Given the description of an element on the screen output the (x, y) to click on. 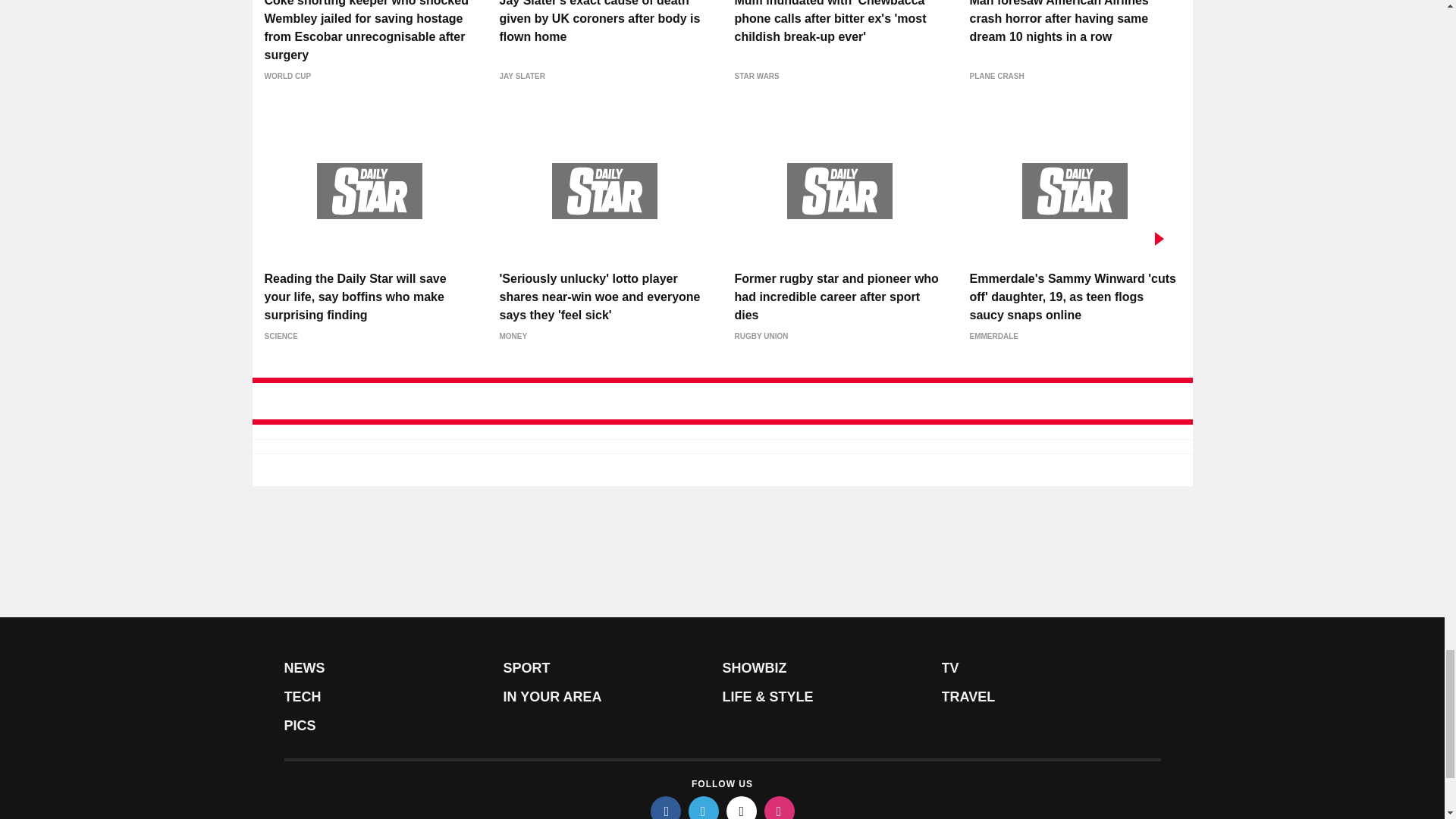
tiktok (741, 807)
twitter (703, 807)
instagram (779, 807)
facebook (665, 807)
